Given the description of an element on the screen output the (x, y) to click on. 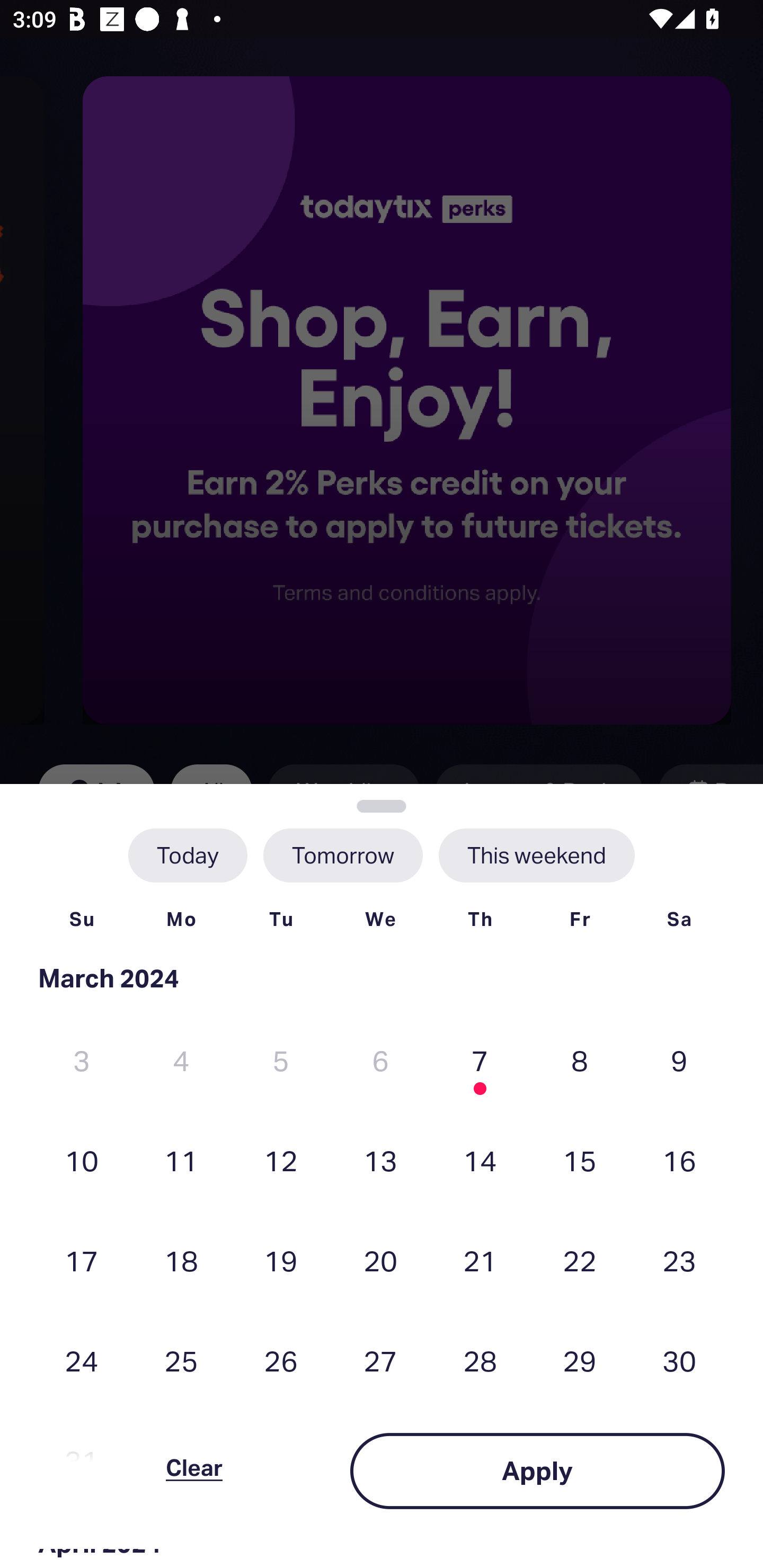
Today (187, 854)
Tomorrow (342, 854)
This weekend (536, 854)
3 (81, 1060)
4 (181, 1060)
5 (280, 1060)
6 (380, 1060)
7 (479, 1060)
8 (579, 1060)
9 (678, 1060)
10 (81, 1160)
11 (181, 1160)
12 (280, 1160)
13 (380, 1160)
14 (479, 1160)
15 (579, 1160)
16 (678, 1160)
17 (81, 1260)
18 (181, 1260)
19 (280, 1260)
20 (380, 1260)
21 (479, 1260)
22 (579, 1260)
23 (678, 1260)
24 (81, 1360)
25 (181, 1360)
26 (280, 1360)
27 (380, 1360)
28 (479, 1360)
29 (579, 1360)
30 (678, 1360)
Clear (194, 1470)
Apply (537, 1470)
